Given the description of an element on the screen output the (x, y) to click on. 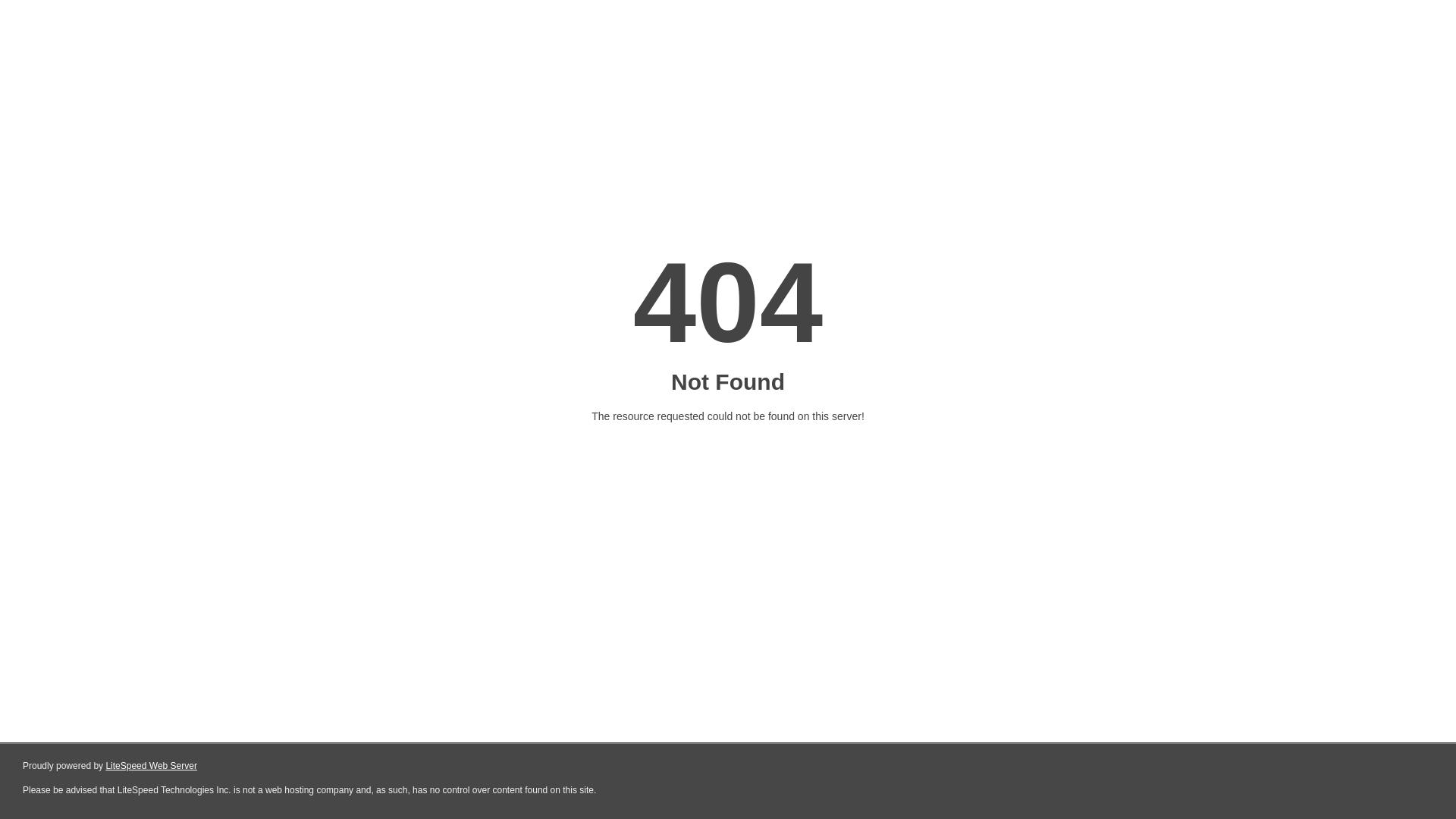
LiteSpeed Web Server Element type: text (151, 765)
